Given the description of an element on the screen output the (x, y) to click on. 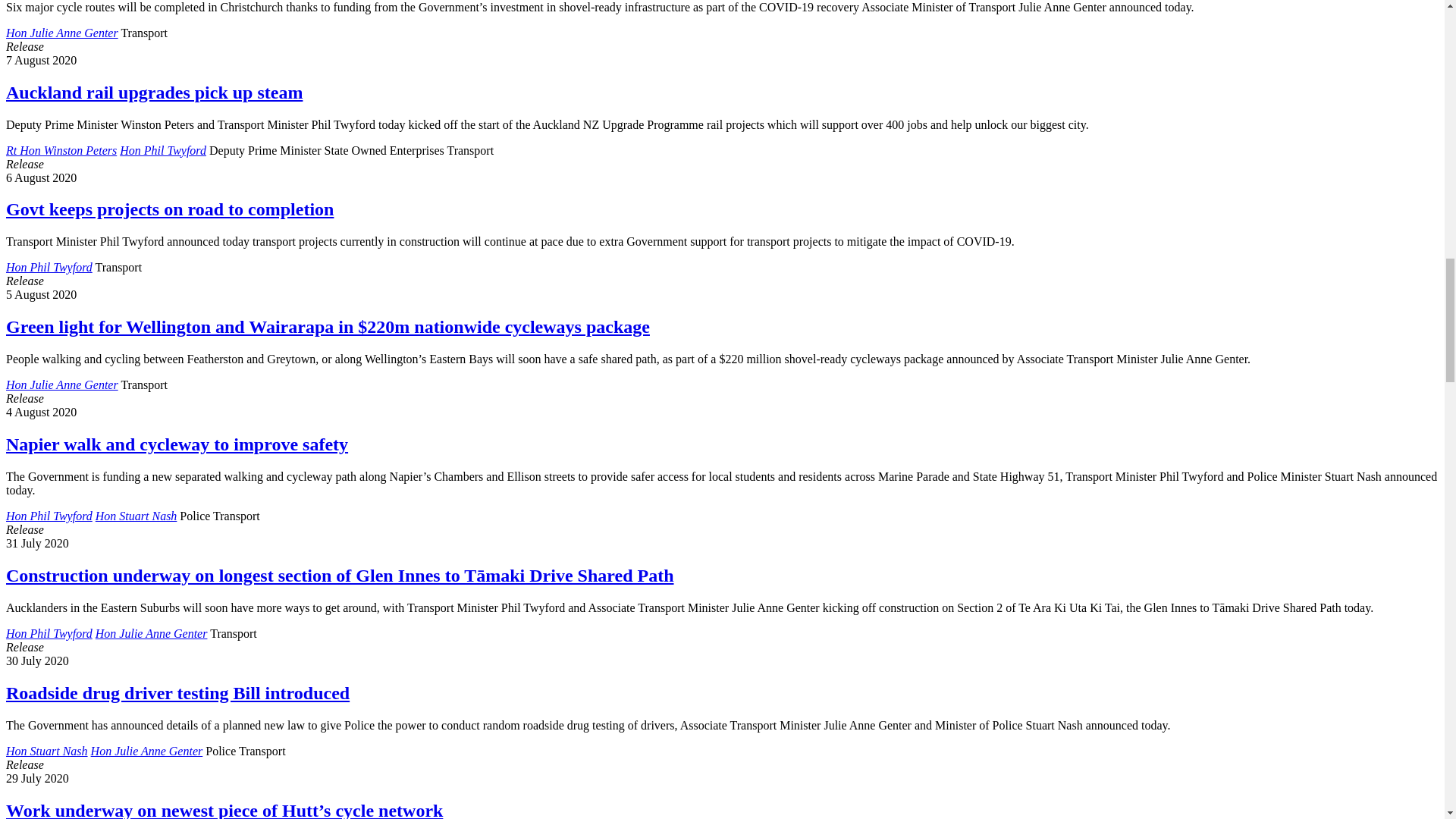
Rt Hon Winston Peters (60, 150)
Auckland rail upgrades pick up steam (153, 92)
Hon Phil Twyford (162, 150)
Hon Julie Anne Genter (61, 32)
